Given the description of an element on the screen output the (x, y) to click on. 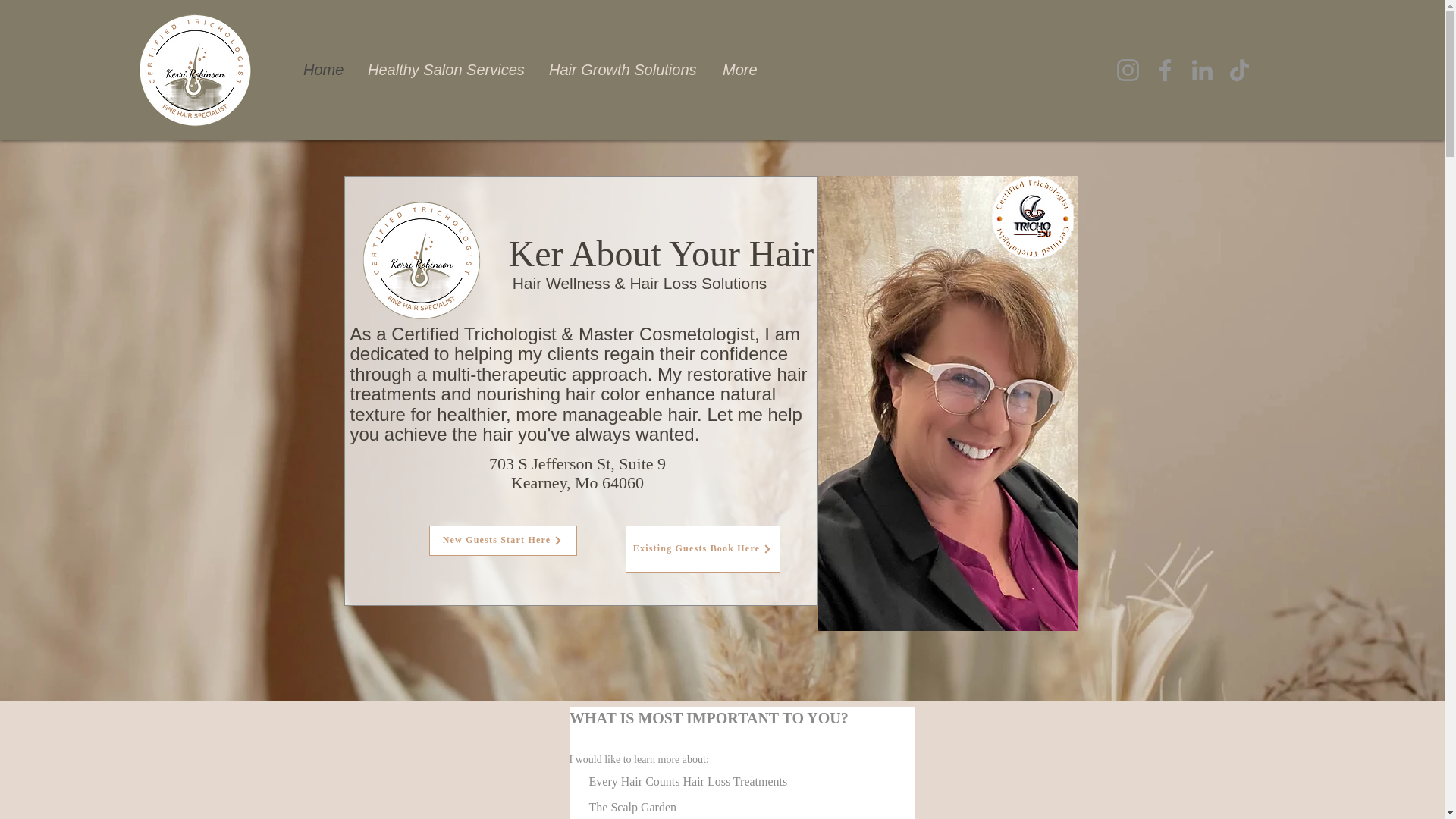
Hair Growth Solutions (624, 69)
New Guests Start Here (502, 540)
Elegant Circle Signature Photography Log (194, 69)
Healthy Salon Services (446, 69)
Existing Guests Book Here (701, 548)
